Given the description of an element on the screen output the (x, y) to click on. 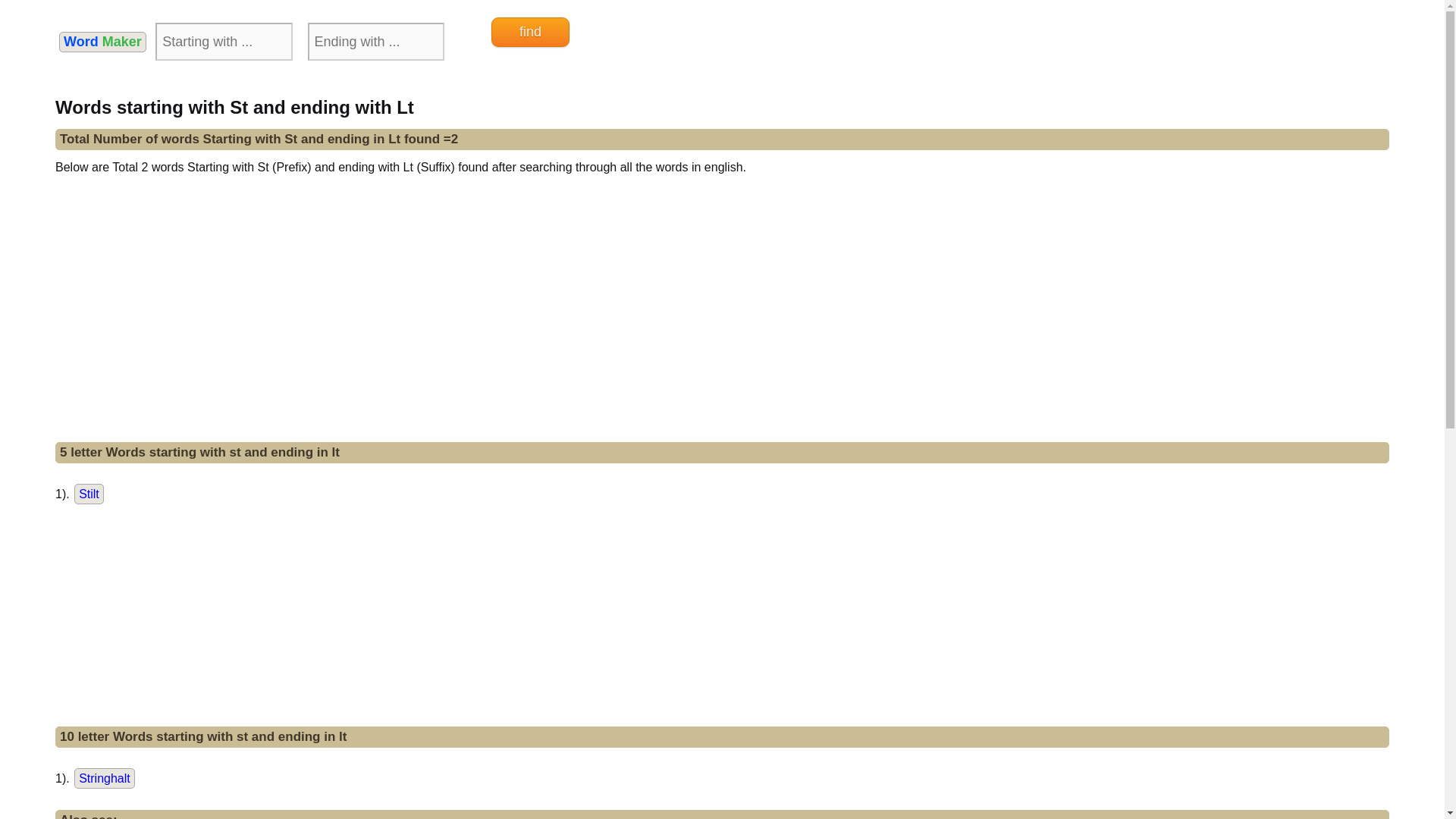
find (530, 31)
Word Maker (103, 41)
find (530, 31)
Stringhalt (104, 778)
Stilt (88, 494)
